Given the description of an element on the screen output the (x, y) to click on. 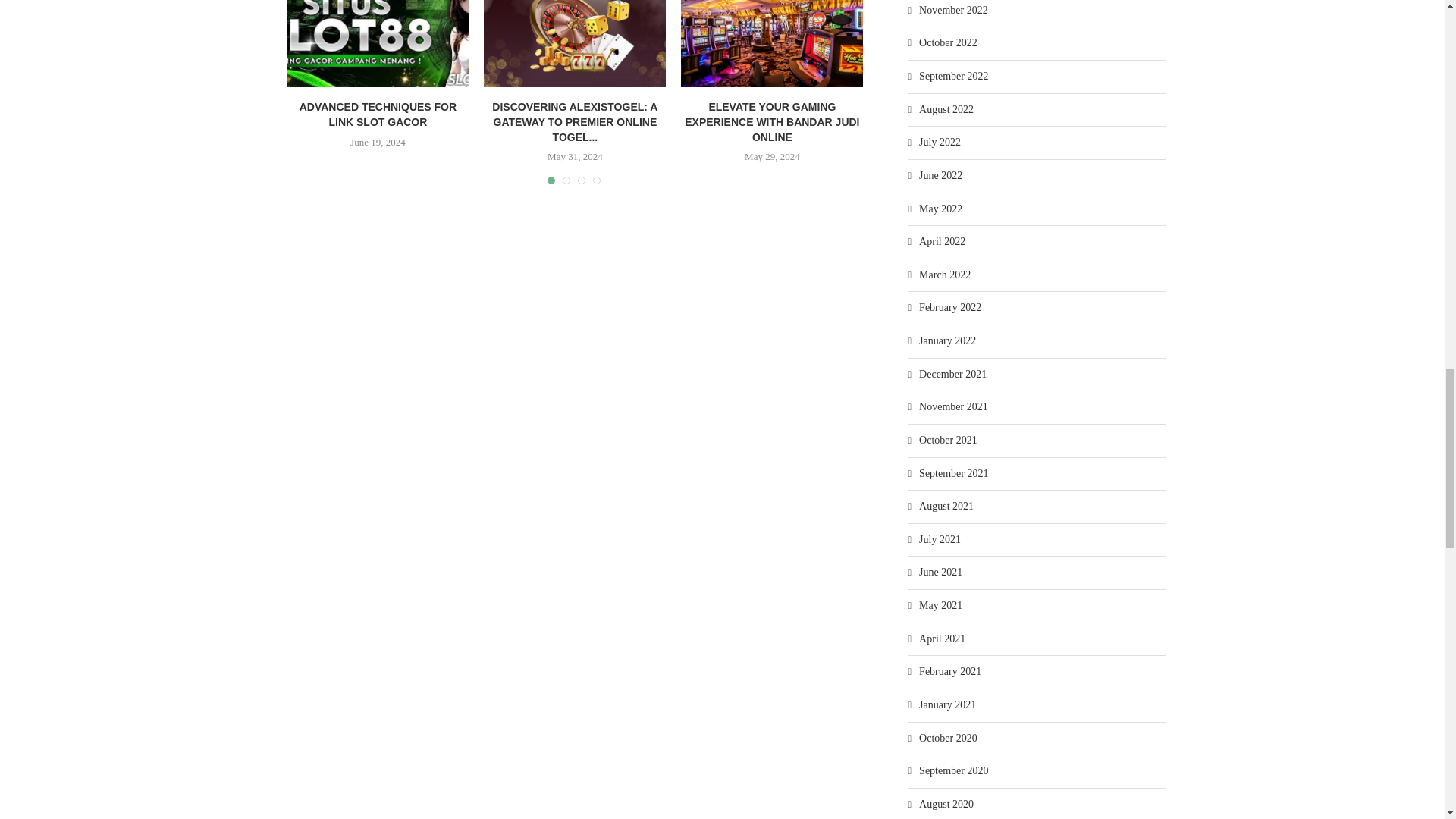
Advanced Techniques for Link Slot Gacor (377, 43)
Elevate Your Gaming Experience with Bandar Judi Online (772, 43)
